Given the description of an element on the screen output the (x, y) to click on. 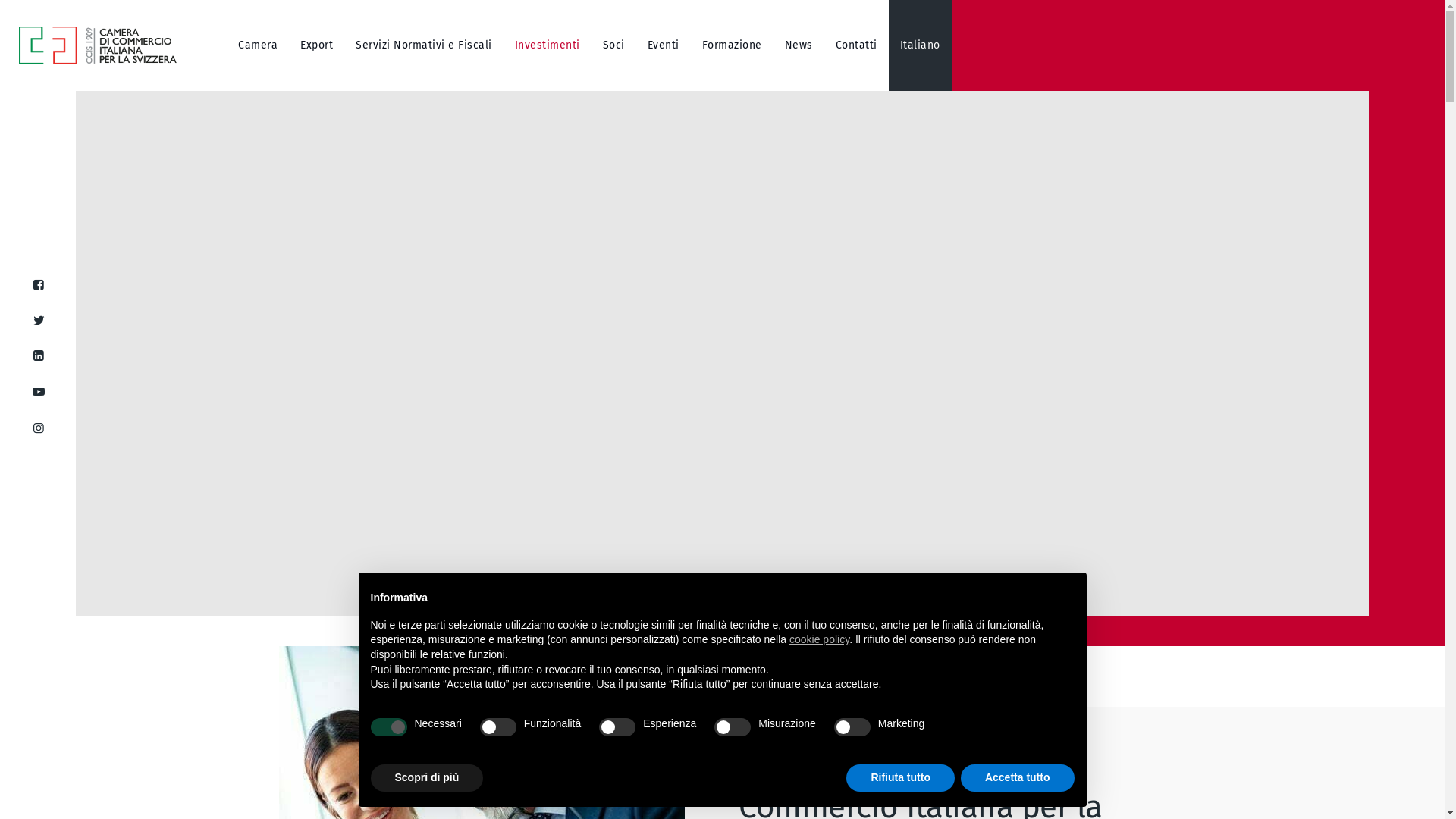
Servizi Normativi e Fiscali Element type: text (423, 45)
Soci Element type: text (613, 45)
Rifiuta tutto Element type: text (900, 777)
Formazione Element type: text (732, 45)
Contatti Element type: text (856, 45)
cookie policy Element type: text (819, 639)
Italiano Element type: text (920, 45)
Accetta tutto Element type: text (1017, 777)
Camera di Commercio Italiana per la Svizzera Element type: hover (103, 45)
Export Element type: text (316, 45)
Eventi Element type: text (663, 45)
Camera Element type: text (257, 45)
Investimenti Element type: text (547, 45)
News Element type: text (798, 45)
